Given the description of an element on the screen output the (x, y) to click on. 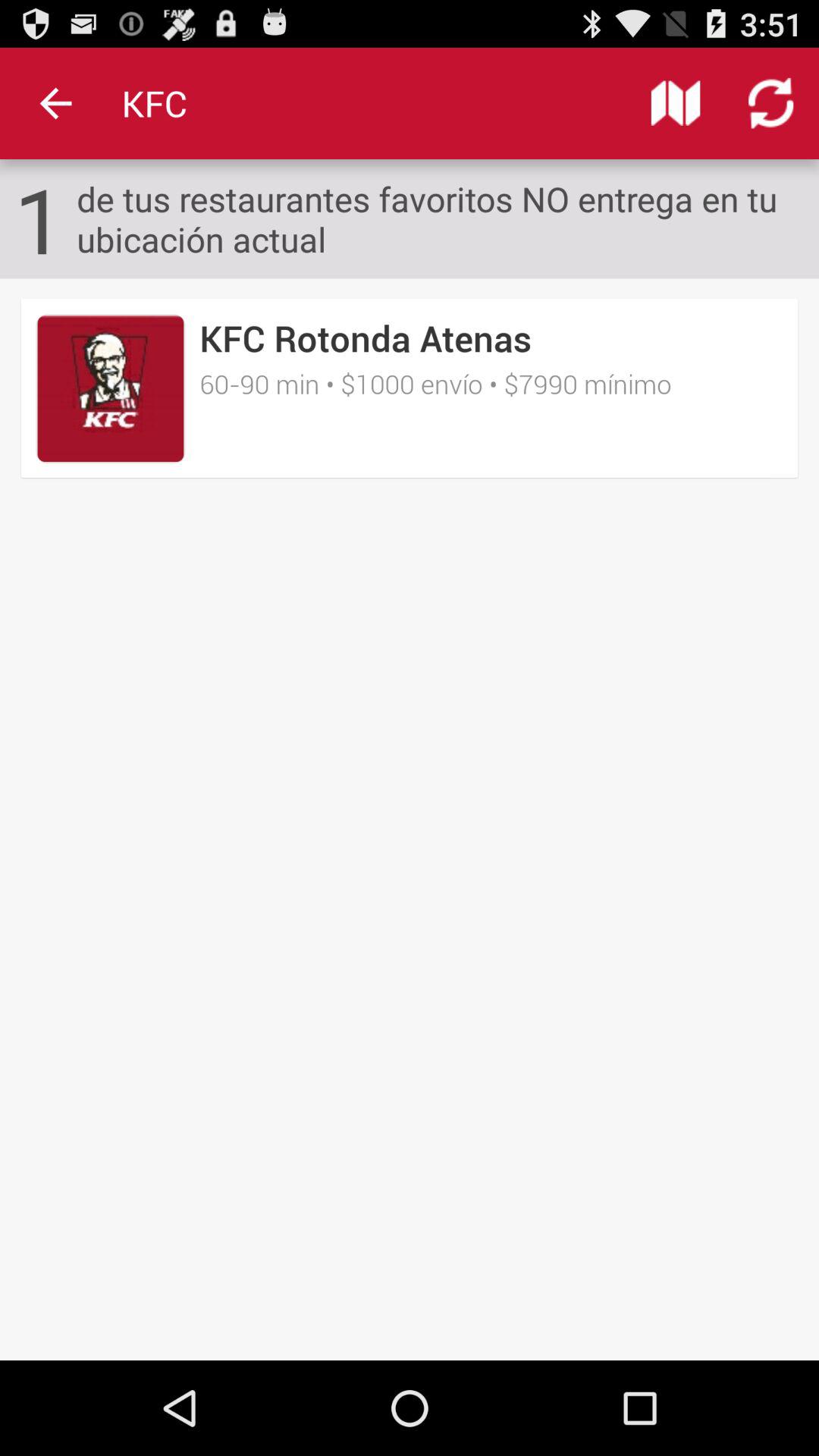
press the icon next to kfc icon (675, 103)
